Given the description of an element on the screen output the (x, y) to click on. 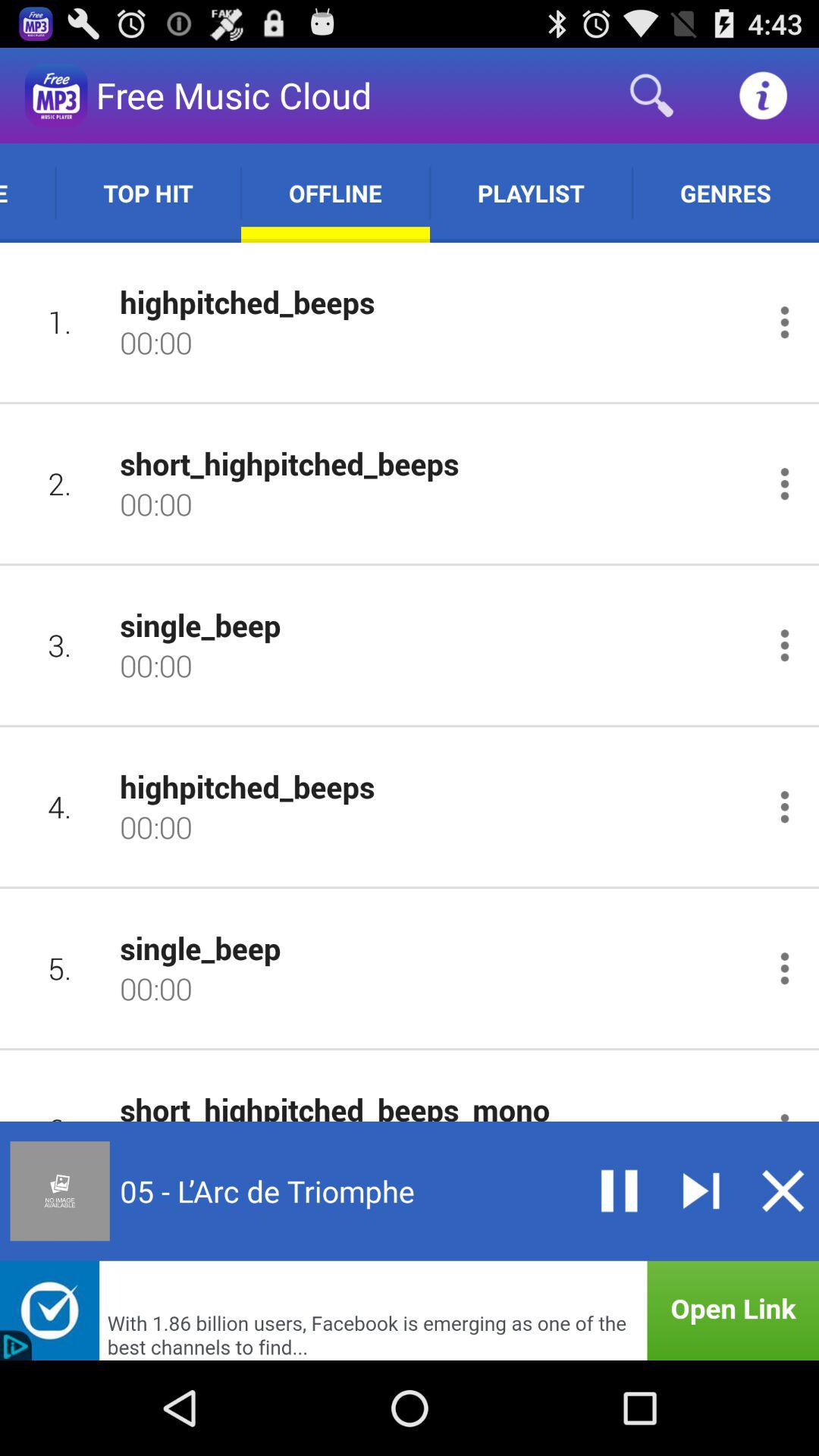
redirects to advertisement page (409, 1310)
